Given the description of an element on the screen output the (x, y) to click on. 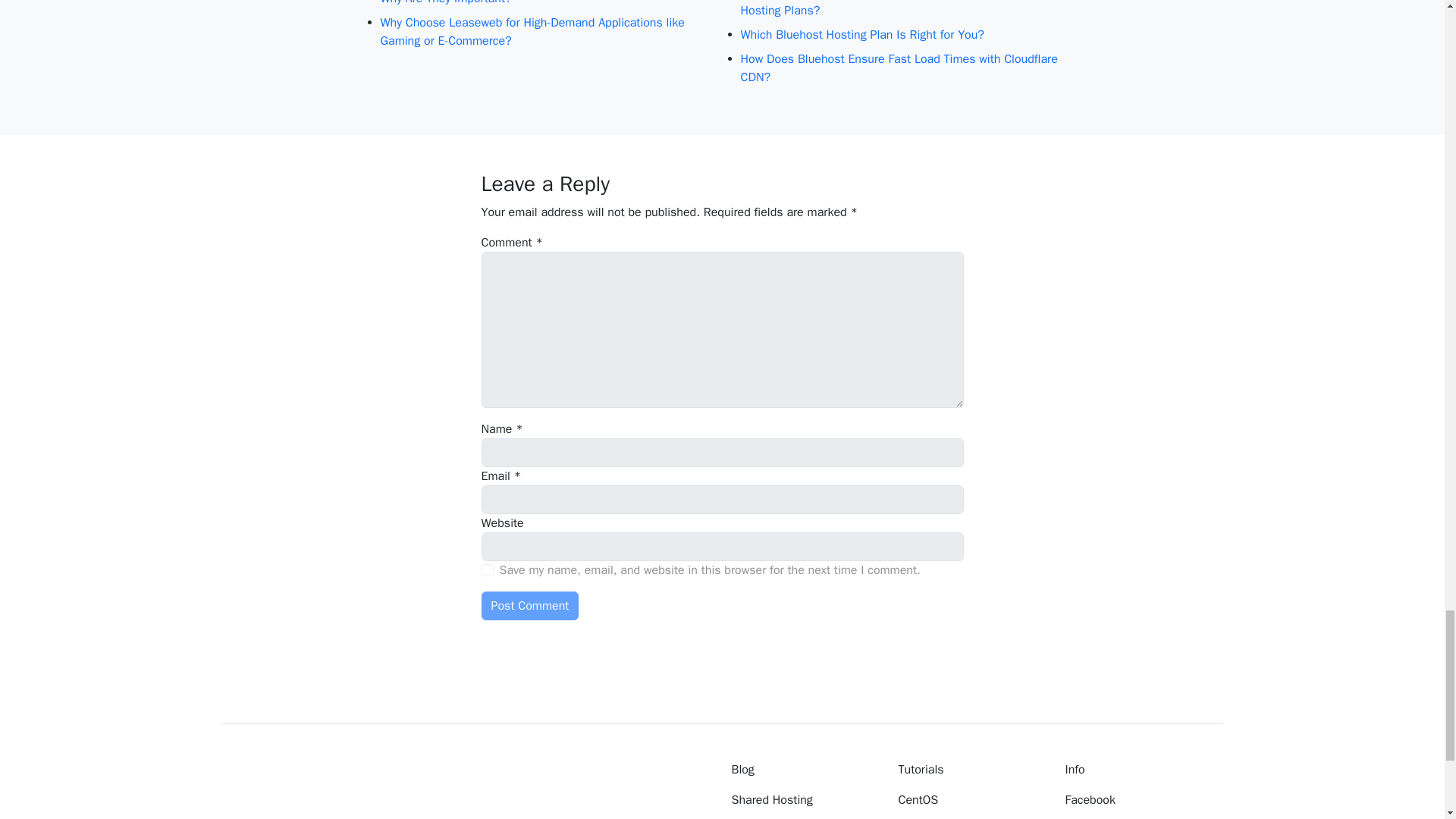
Which Bluehost Hosting Plan Is Right for You? (901, 34)
Post Comment (529, 605)
Shared Hosting (803, 800)
Post Comment (529, 605)
yes (486, 570)
